Given the description of an element on the screen output the (x, y) to click on. 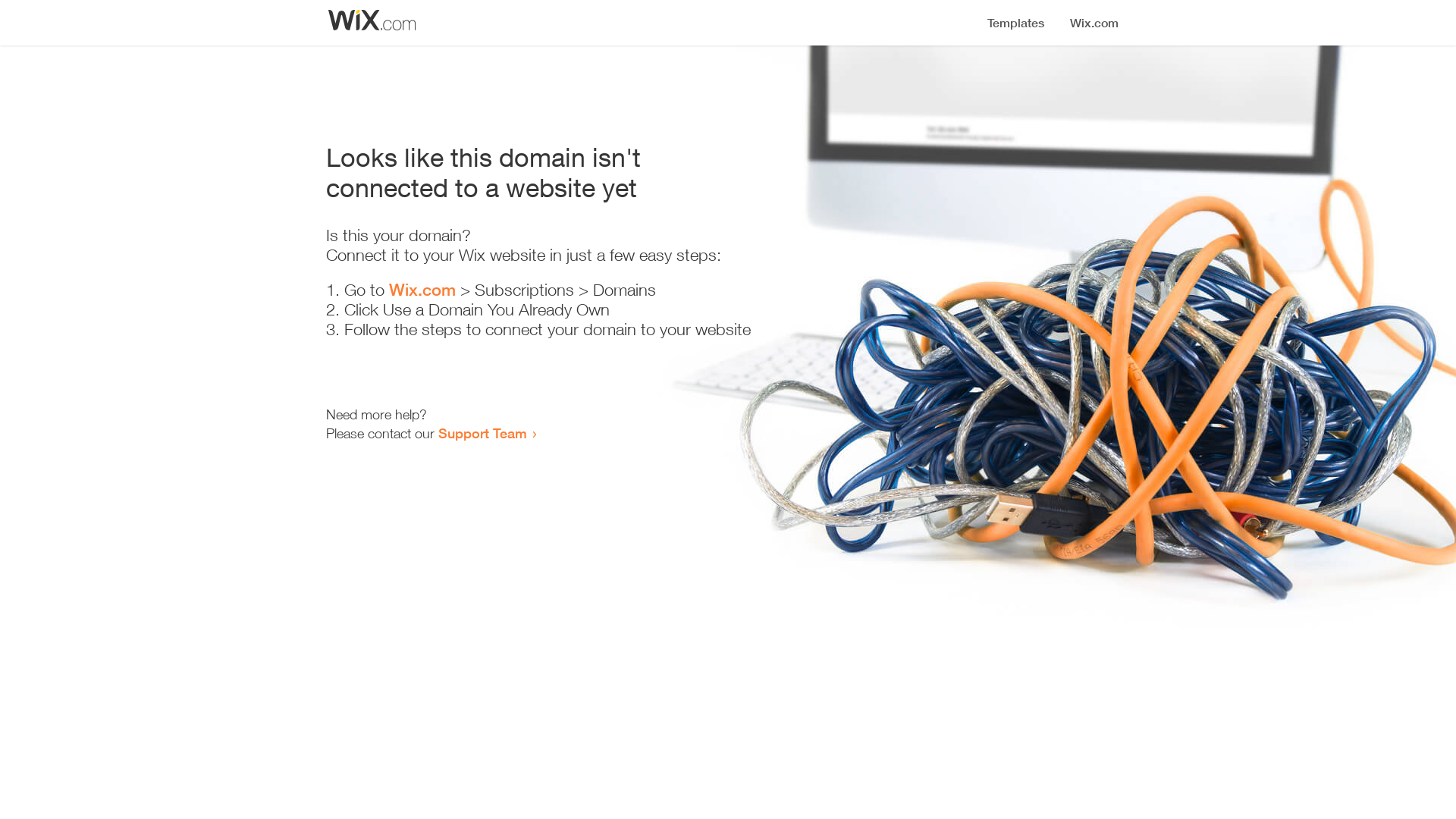
Wix.com Element type: text (422, 289)
Support Team Element type: text (482, 432)
